Given the description of an element on the screen output the (x, y) to click on. 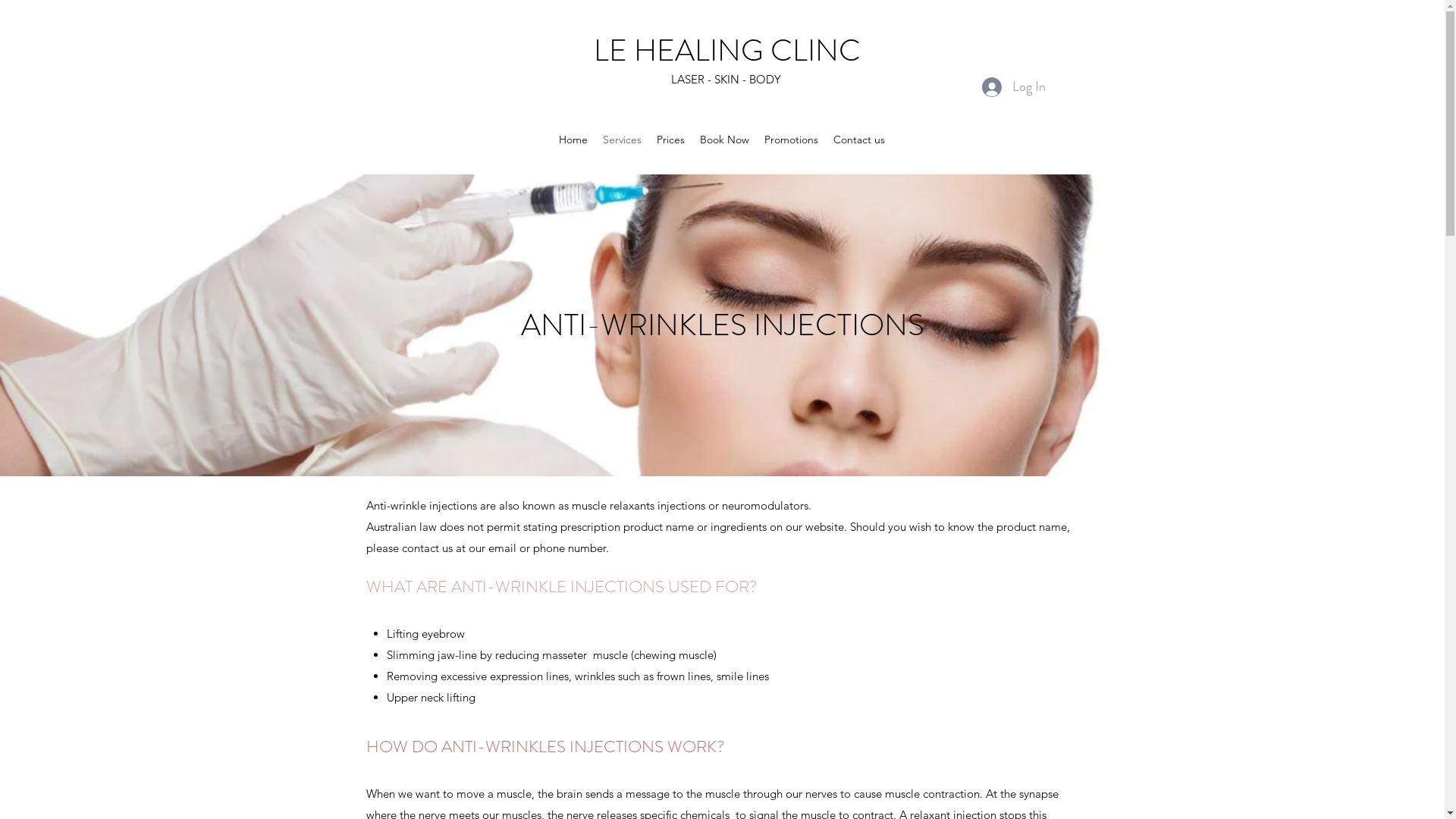
Promotions Element type: text (790, 139)
Book Now Element type: text (724, 139)
Log In Element type: text (1012, 86)
LE HEALING CLINC Element type: text (726, 50)
Prices Element type: text (670, 139)
Services Element type: text (622, 139)
Contact us Element type: text (858, 139)
Home Element type: text (573, 139)
